Given the description of an element on the screen output the (x, y) to click on. 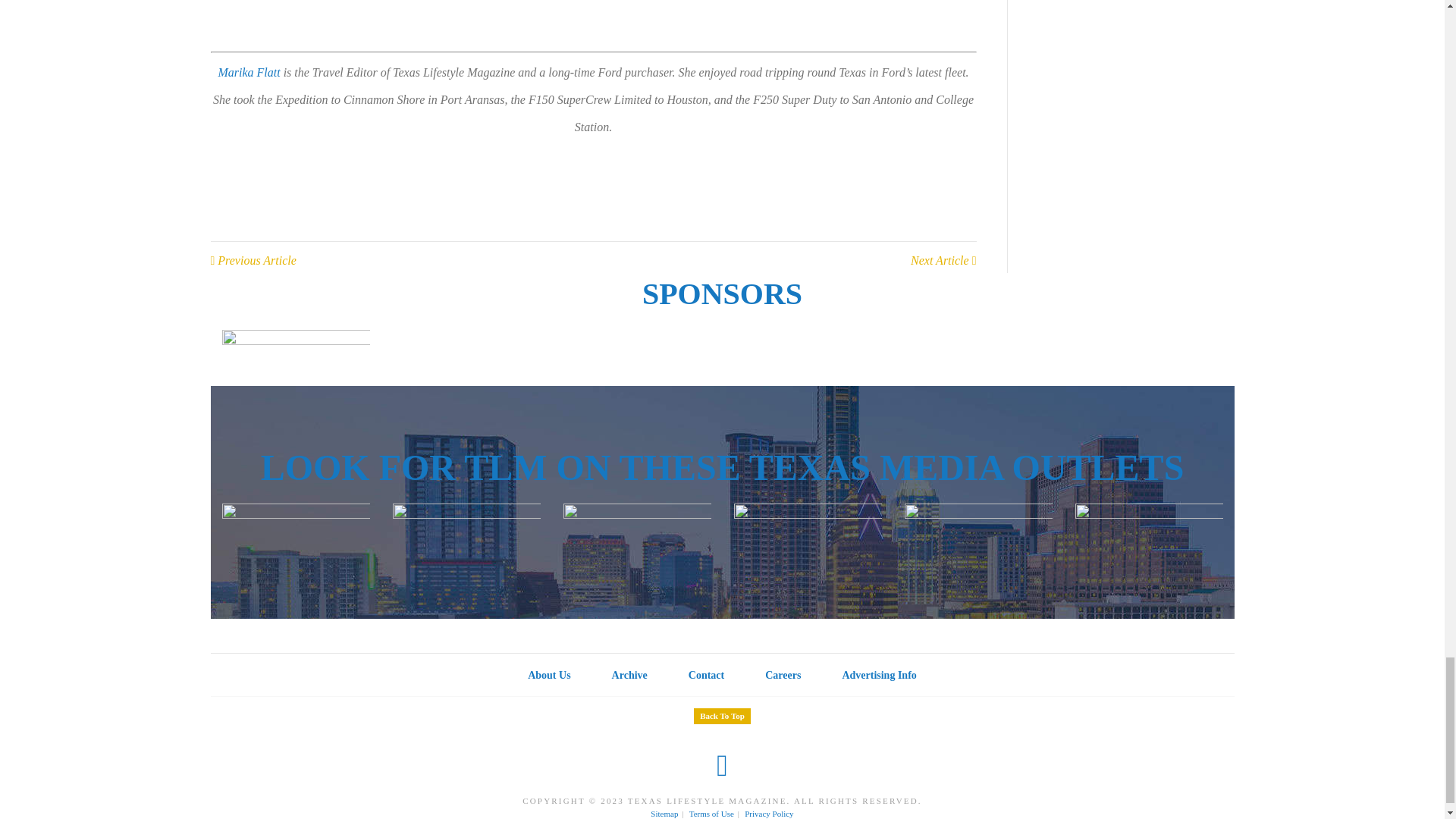
KVUE (466, 549)
SA Living (977, 549)
Studio 512 (1149, 549)
Daytime (295, 549)
KHOU (636, 549)
Intercontinental SA Logo (295, 357)
Daytime (807, 549)
